Given the description of an element on the screen output the (x, y) to click on. 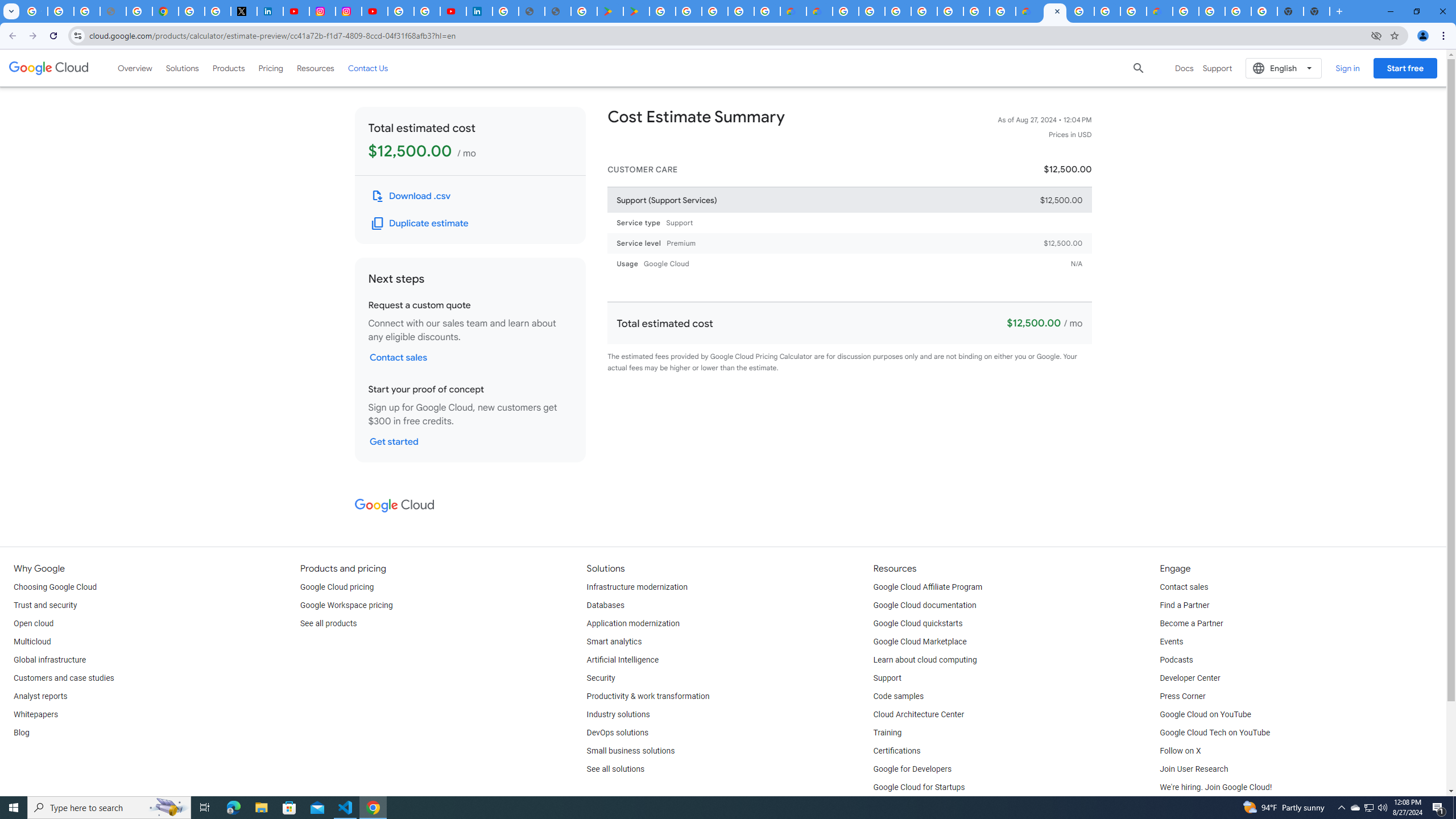
Download .csv file (412, 196)
New Tab (1316, 11)
Customers and case studies (64, 678)
Open cloud (33, 624)
Blog (21, 732)
Whitepapers (35, 714)
Podcasts (1175, 660)
Google Cloud pricing (336, 587)
YouTube Content Monetization Policies - How YouTube Works (296, 11)
X (243, 11)
